Given the description of an element on the screen output the (x, y) to click on. 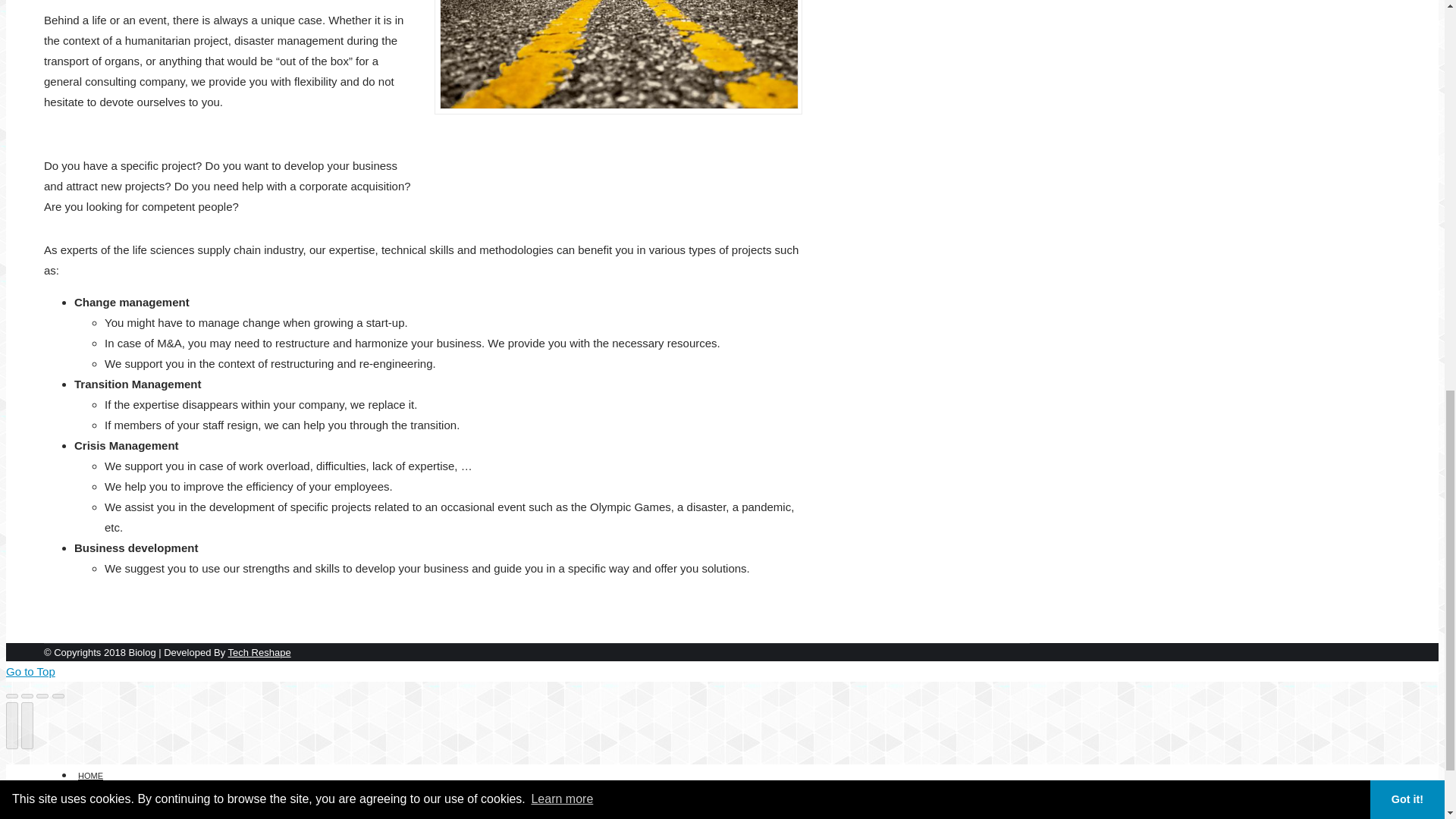
Toggle fullscreen (42, 695)
Tech Reshape (259, 652)
Share (27, 695)
SERVICES (104, 812)
Go to Top (30, 671)
ABOUT BIOLOG (114, 794)
HOME (90, 774)
Go to Top (30, 671)
